Given the description of an element on the screen output the (x, y) to click on. 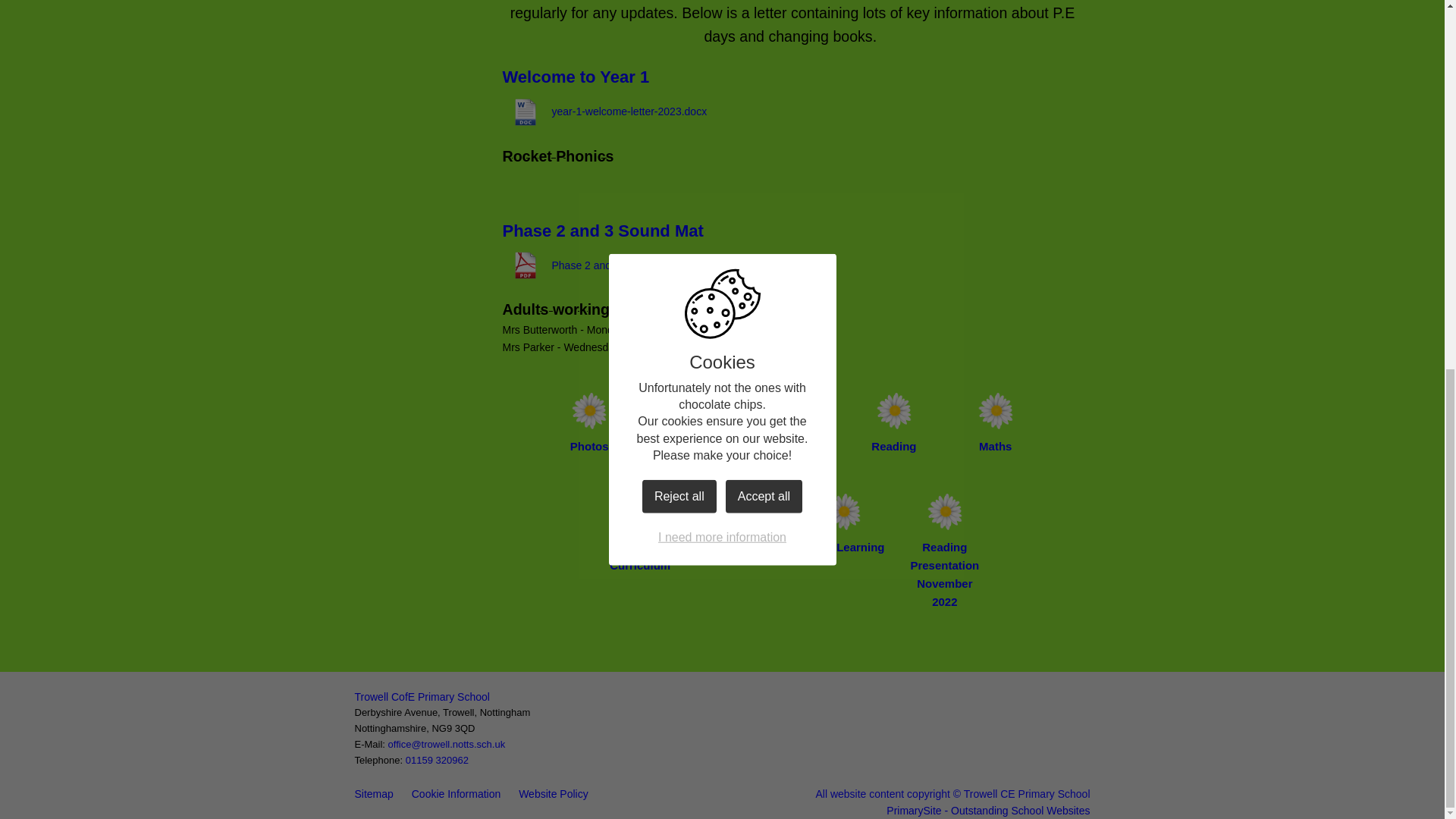
Weekly Timetable (690, 431)
Photos (588, 421)
Phase 2 and 3 Sound Mat.pdf (596, 265)
year-1-welcome-letter-2023.docx (604, 112)
Useful Links (741, 522)
Key Dates (792, 421)
Maths (994, 421)
Our Curriculum (639, 531)
Reading (893, 421)
Home Learning (843, 522)
